Given the description of an element on the screen output the (x, y) to click on. 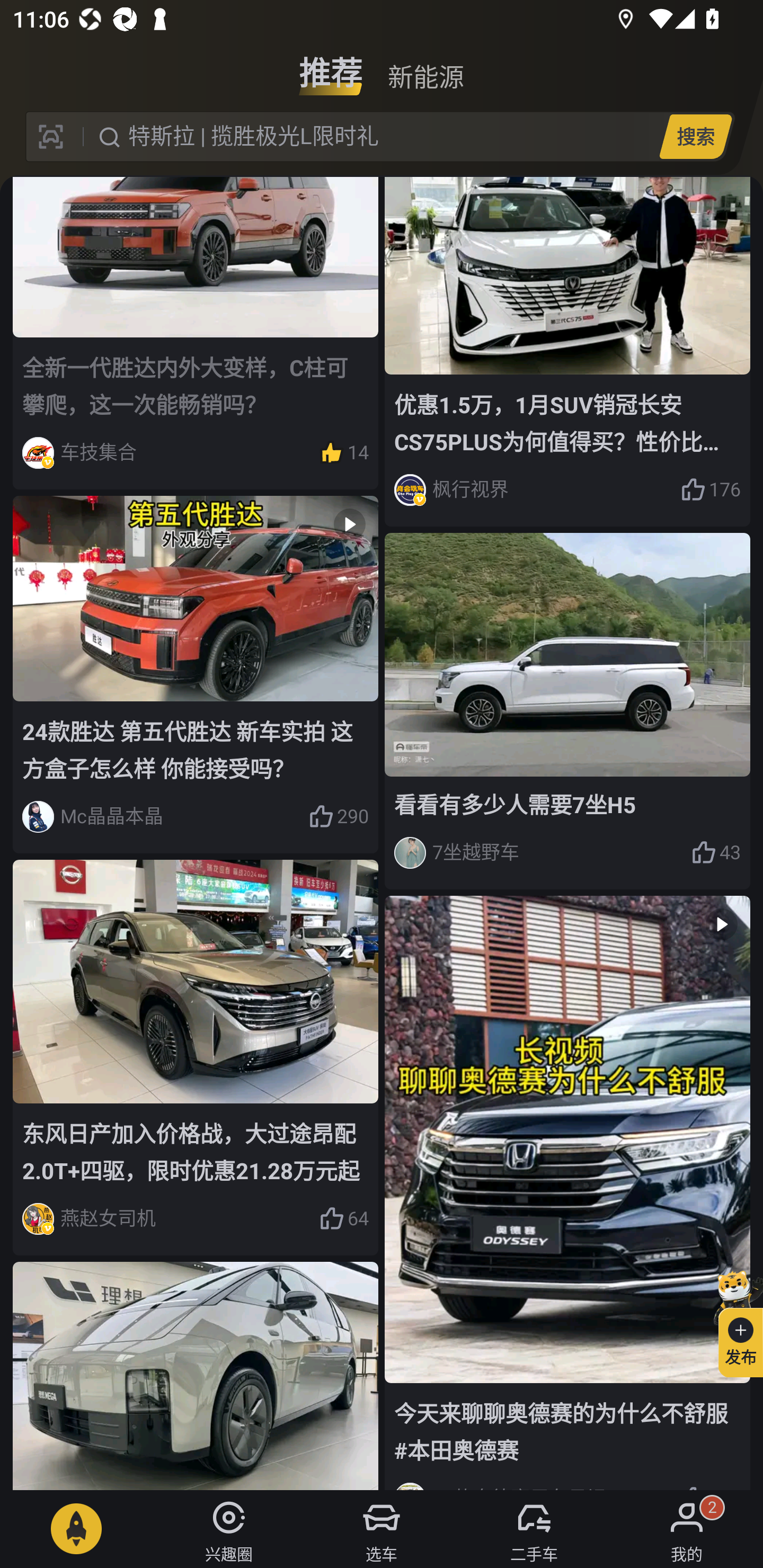
推荐 (330, 65)
新能源 (425, 65)
搜索 (695, 136)
全新一代胜达内外大变样，C柱可攀爬，这一次能畅销吗？ 车技集合 14 (195, 333)
优惠1.5万，1月SUV销冠长安CS75PLUS为何值得买？性价比是亮点！ 枫行视界 176 (567, 351)
14 (343, 452)
176 (710, 489)
 24款胜达 第五代胜达 新车实拍 这方盒子怎么样 你能接受吗？ Mc晶晶本晶 290 (195, 673)
看看有多少人需要7坐H5 7坐越野车 43 (567, 711)
290 (338, 816)
43 (715, 852)
东风日产加入价格战，大过途昂配2.0T+四驱，限时优惠21.28万元起 燕赵女司机 64 (195, 1057)
 今天来聊聊奥德赛的为什么不舒服#本田奥德赛 24款奥德赛用车日记 196 (567, 1192)
64 (343, 1218)
发布 (732, 1321)
 兴趣圈 (228, 1528)
 选车 (381, 1528)
 二手车 (533, 1528)
 我的 (686, 1528)
